Given the description of an element on the screen output the (x, y) to click on. 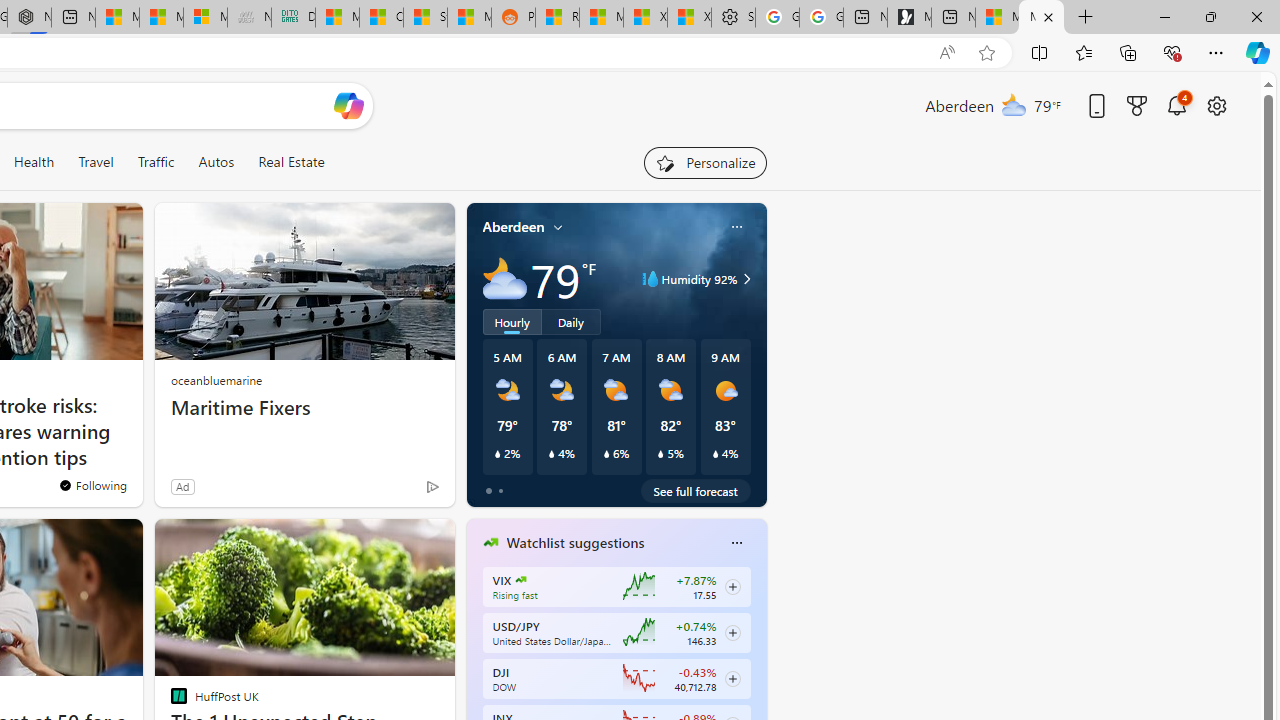
Watchlist suggestions (575, 543)
previous (476, 670)
Aberdeen (513, 227)
Maritime Fixers (304, 407)
Humidity 92% (744, 278)
